Given the description of an element on the screen output the (x, y) to click on. 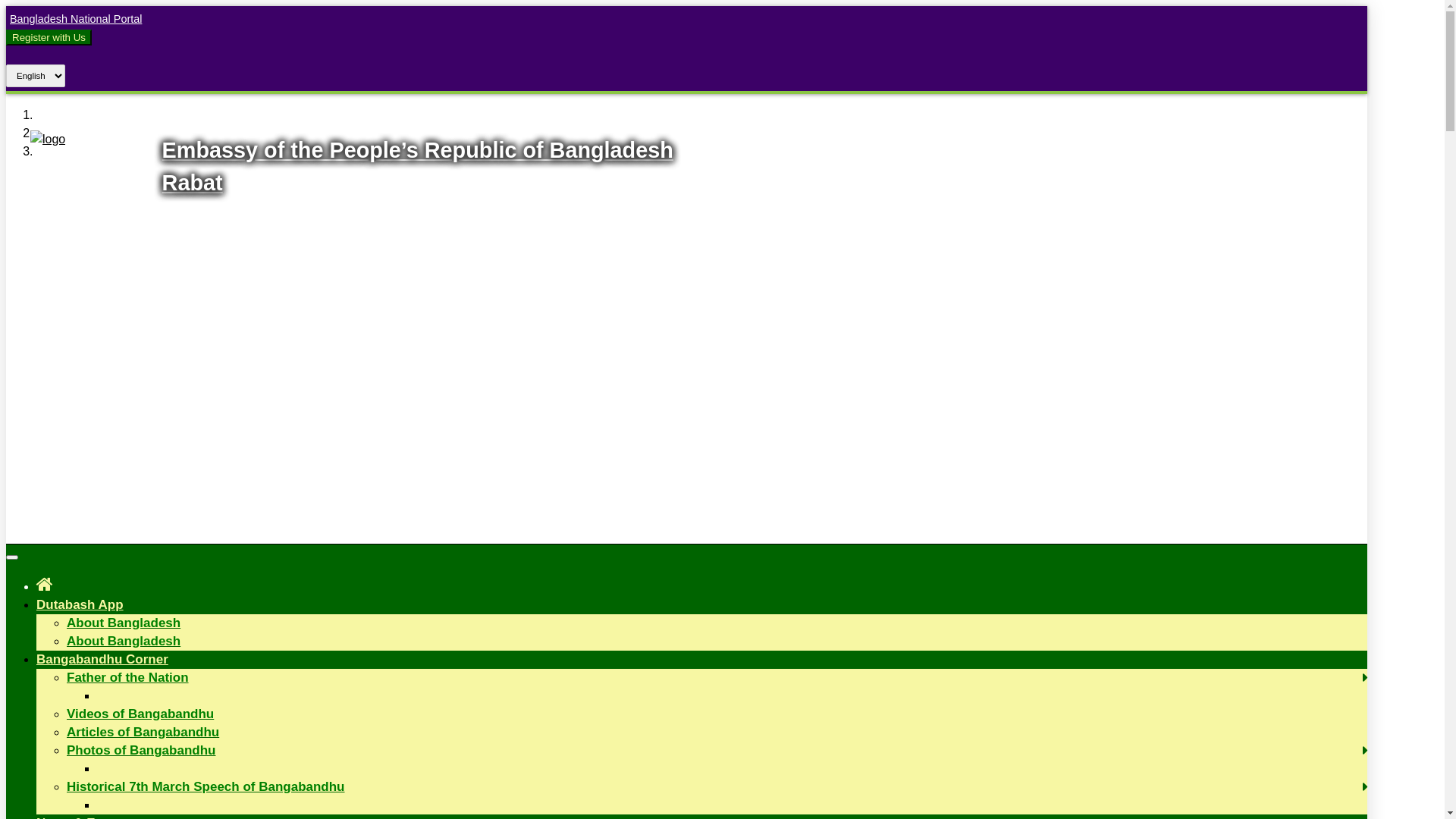
About Bangladesh Element type: text (123, 640)
Register with Us Element type: text (48, 37)
Photos of Bangabandhu Element type: text (140, 750)
Bangabandhu Corner Element type: text (102, 659)
Logo Element type: hover (47, 138)
Historical 7th March Speech of Bangabandhu Element type: text (205, 786)
Dutabash App Element type: text (79, 604)
Videos of Bangabandhu Element type: text (139, 713)
Register with Us Element type: text (48, 37)
About Bangladesh Element type: text (123, 622)
Articles of Bangabandhu Element type: text (142, 731)
Home Element type: hover (44, 584)
Father of the Nation Element type: text (127, 677)
Bangladesh National Portal Element type: text (73, 18)
